Given the description of an element on the screen output the (x, y) to click on. 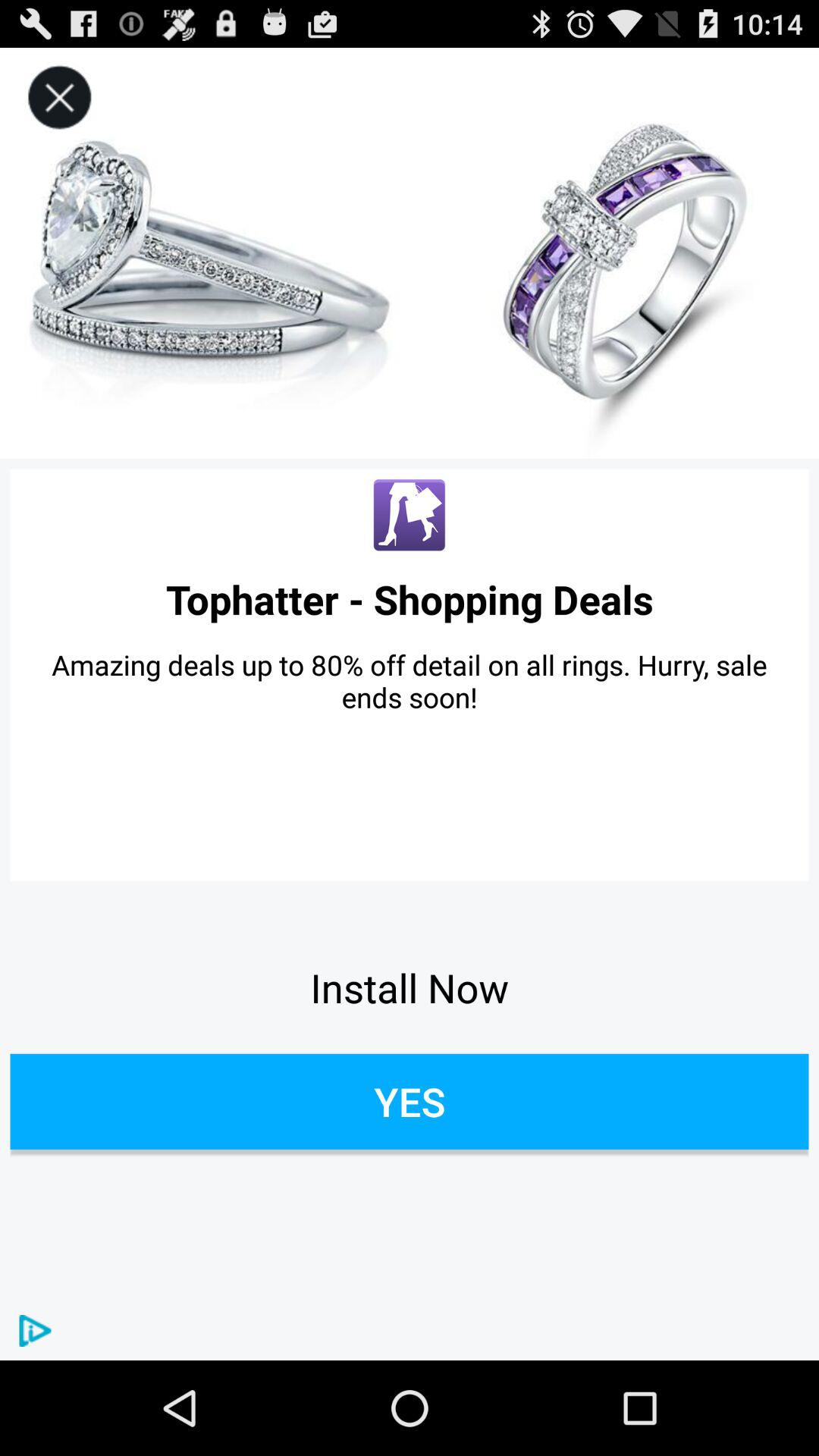
choose icon above the install now app (409, 680)
